Given the description of an element on the screen output the (x, y) to click on. 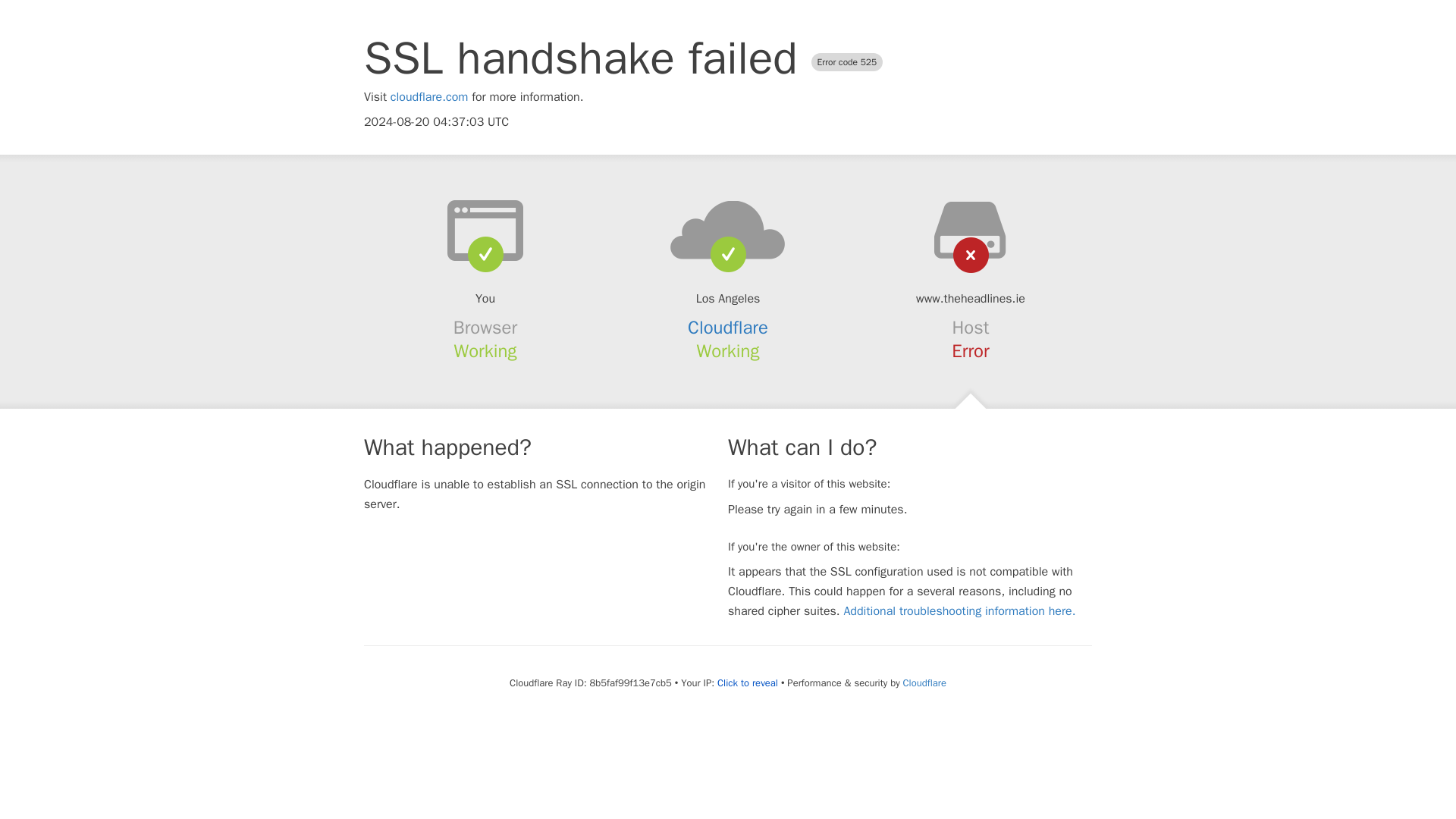
Cloudflare (924, 682)
Click to reveal (747, 683)
Cloudflare (727, 327)
Additional troubleshooting information here. (959, 611)
cloudflare.com (429, 96)
